Given the description of an element on the screen output the (x, y) to click on. 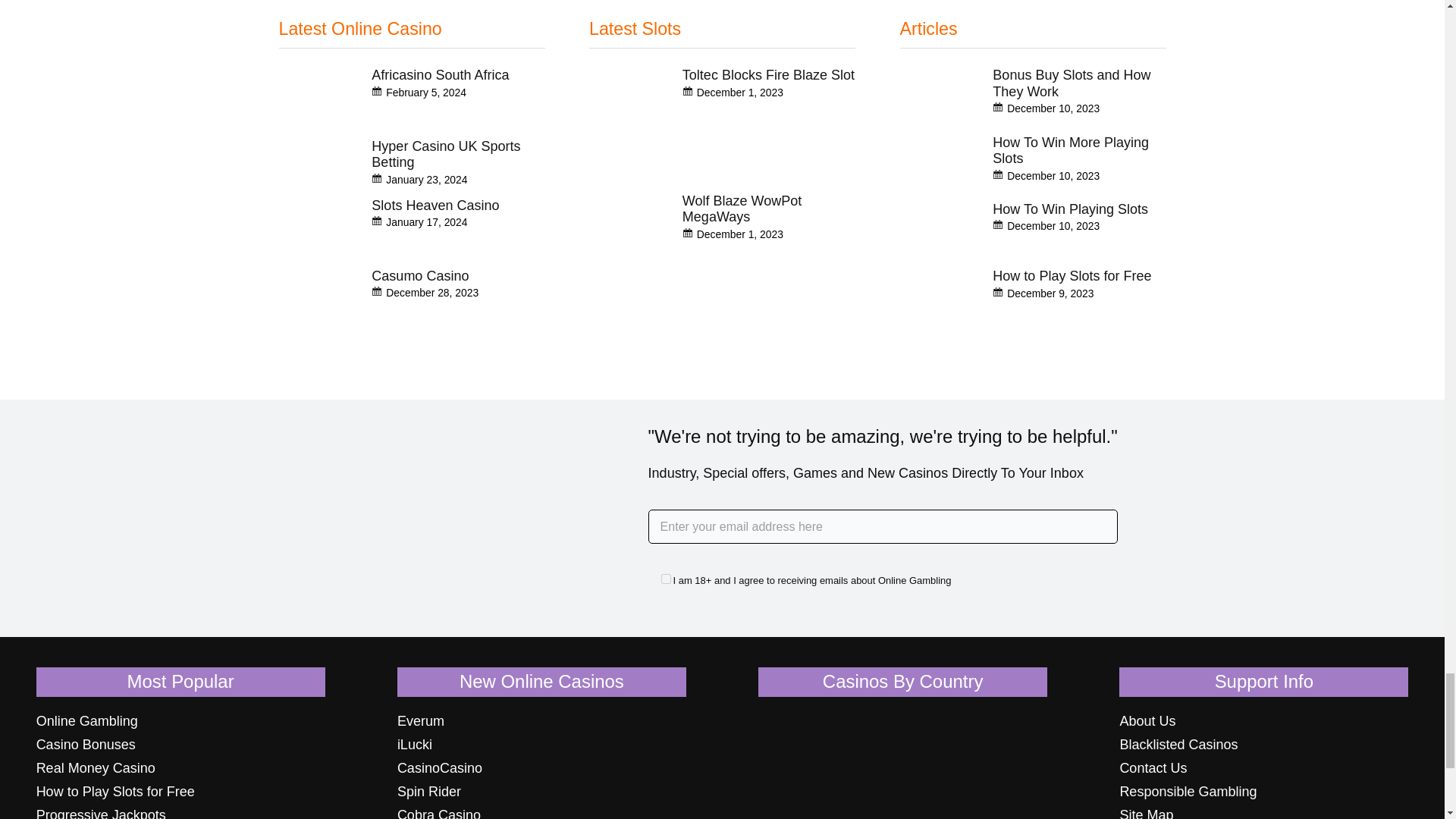
1 (666, 578)
